Given the description of an element on the screen output the (x, y) to click on. 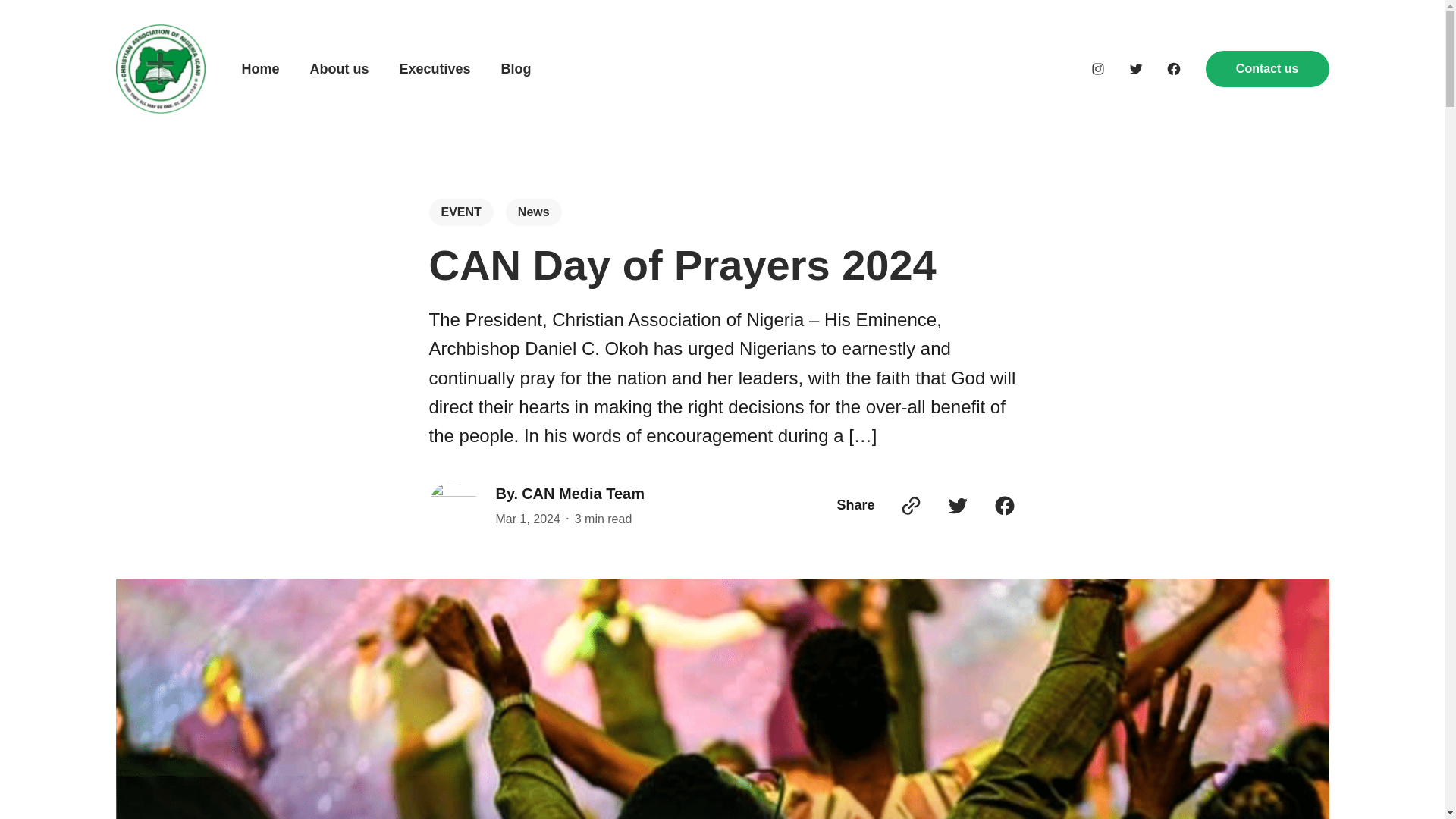
News (533, 212)
Twitter (1135, 68)
Contact us (1267, 68)
Executives (434, 69)
Blog (515, 69)
EVENT (461, 212)
Instagram (1097, 68)
Home (260, 69)
Facebook (1173, 68)
Facebook (1004, 505)
